Given the description of an element on the screen output the (x, y) to click on. 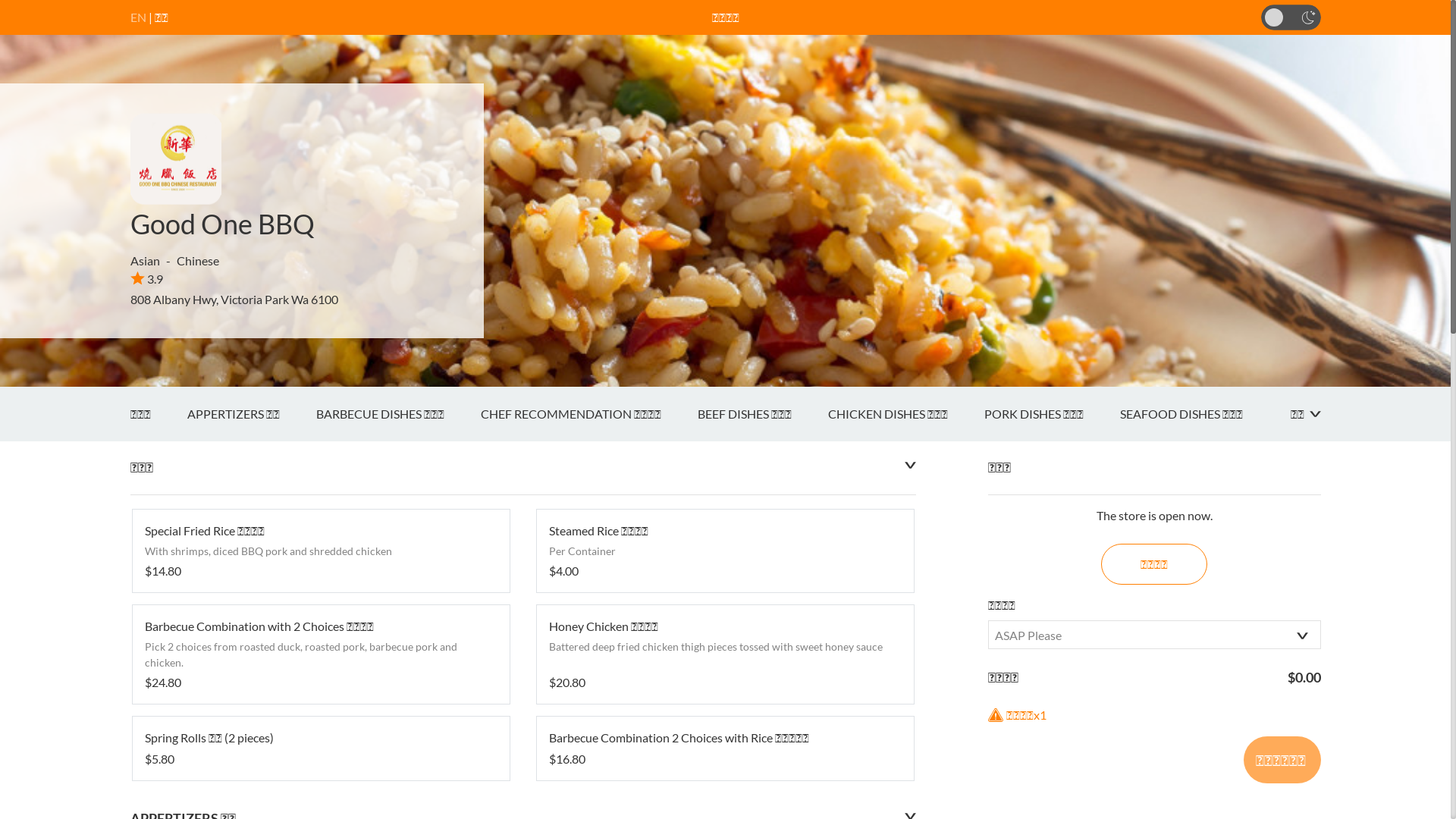
3.9 Element type: text (146, 278)
EN Element type: text (138, 16)
Good One BBQ Element type: text (222, 223)
